Given the description of an element on the screen output the (x, y) to click on. 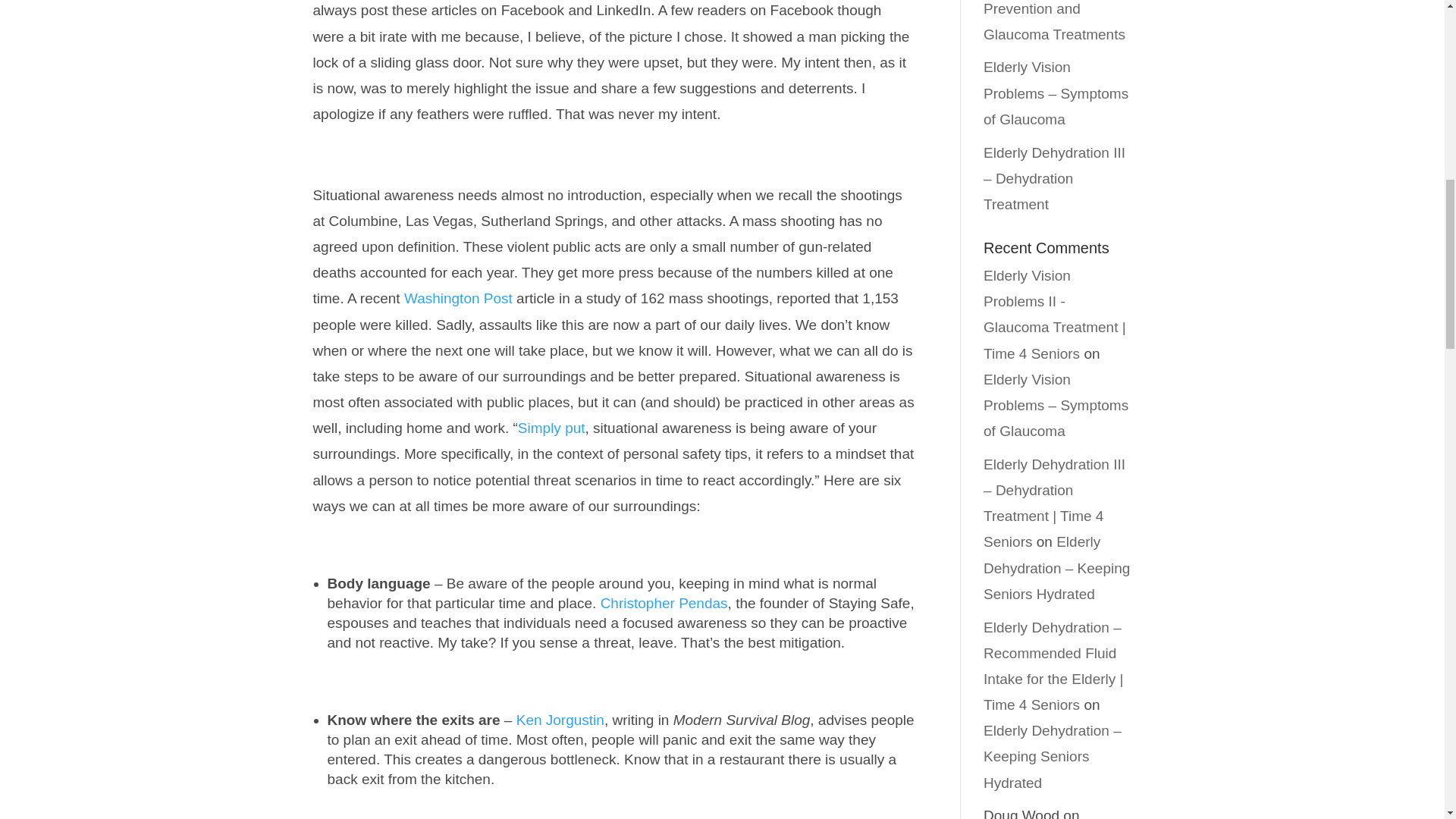
Washington Post (458, 298)
Christopher Pendas (663, 602)
Ken Jorgustin (560, 719)
Simply put (551, 427)
